Given the description of an element on the screen output the (x, y) to click on. 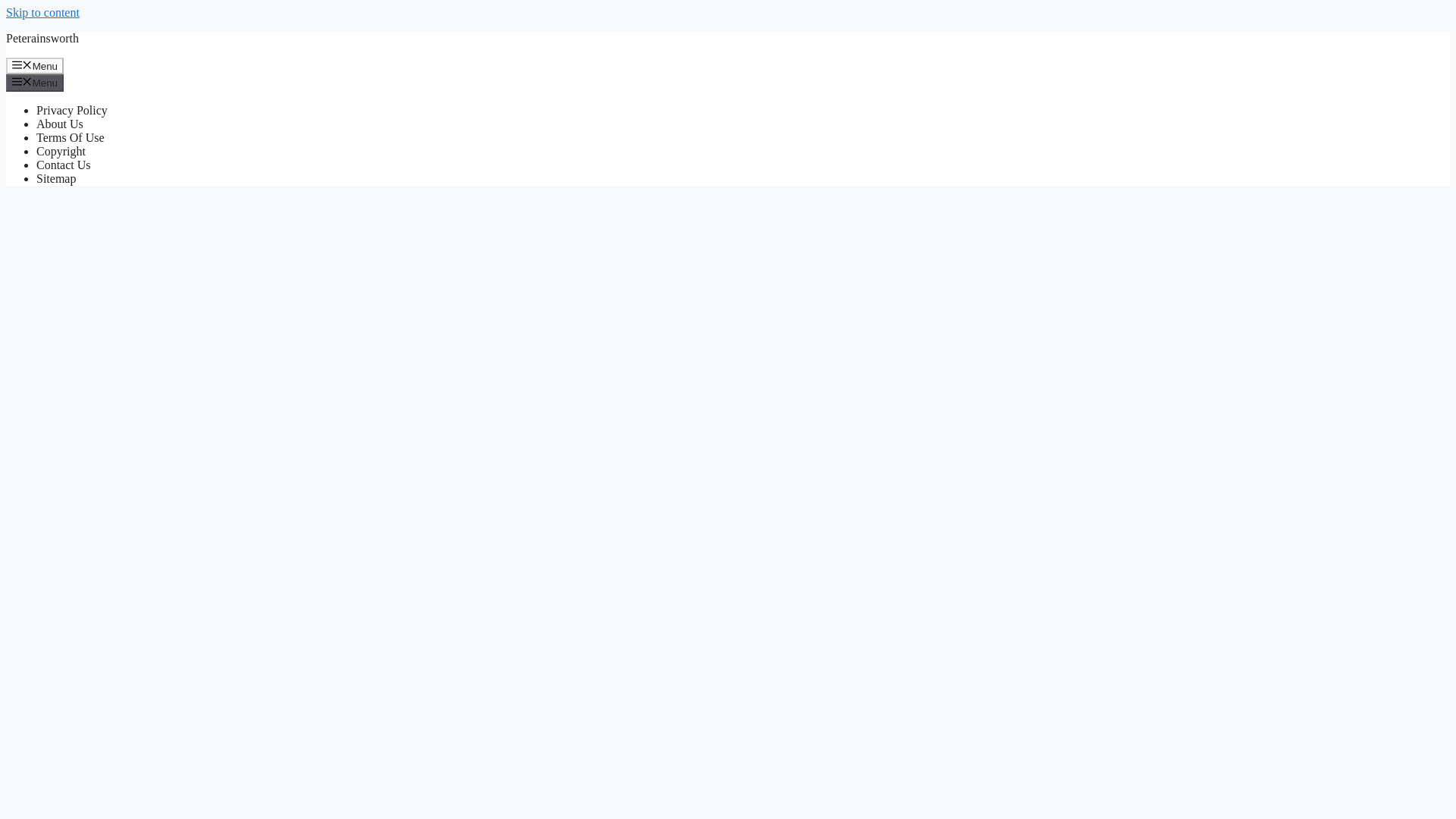
Privacy Policy (71, 110)
Peterainsworth (41, 38)
Skip to content (42, 11)
Terms Of Use (70, 137)
Copyright (60, 151)
Skip to content (42, 11)
Contact Us (63, 164)
About Us (59, 123)
Menu (34, 65)
Menu (34, 82)
